Given the description of an element on the screen output the (x, y) to click on. 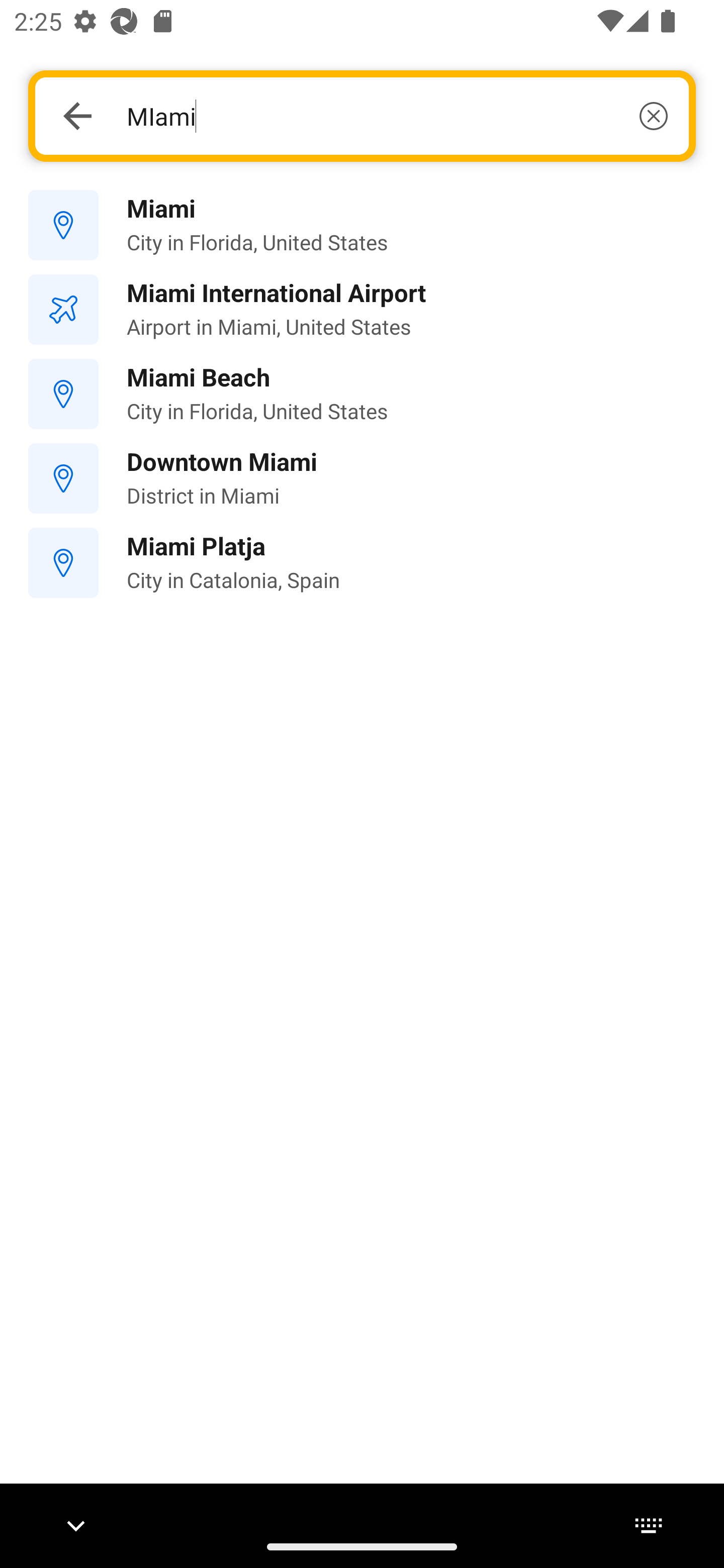
MIami (396, 115)
Miami City in Florida, United States (362, 225)
Miami Beach City in Florida, United States (362, 393)
Downtown Miami District in Miami (362, 477)
Miami Platja City in Catalonia, Spain (362, 562)
